Given the description of an element on the screen output the (x, y) to click on. 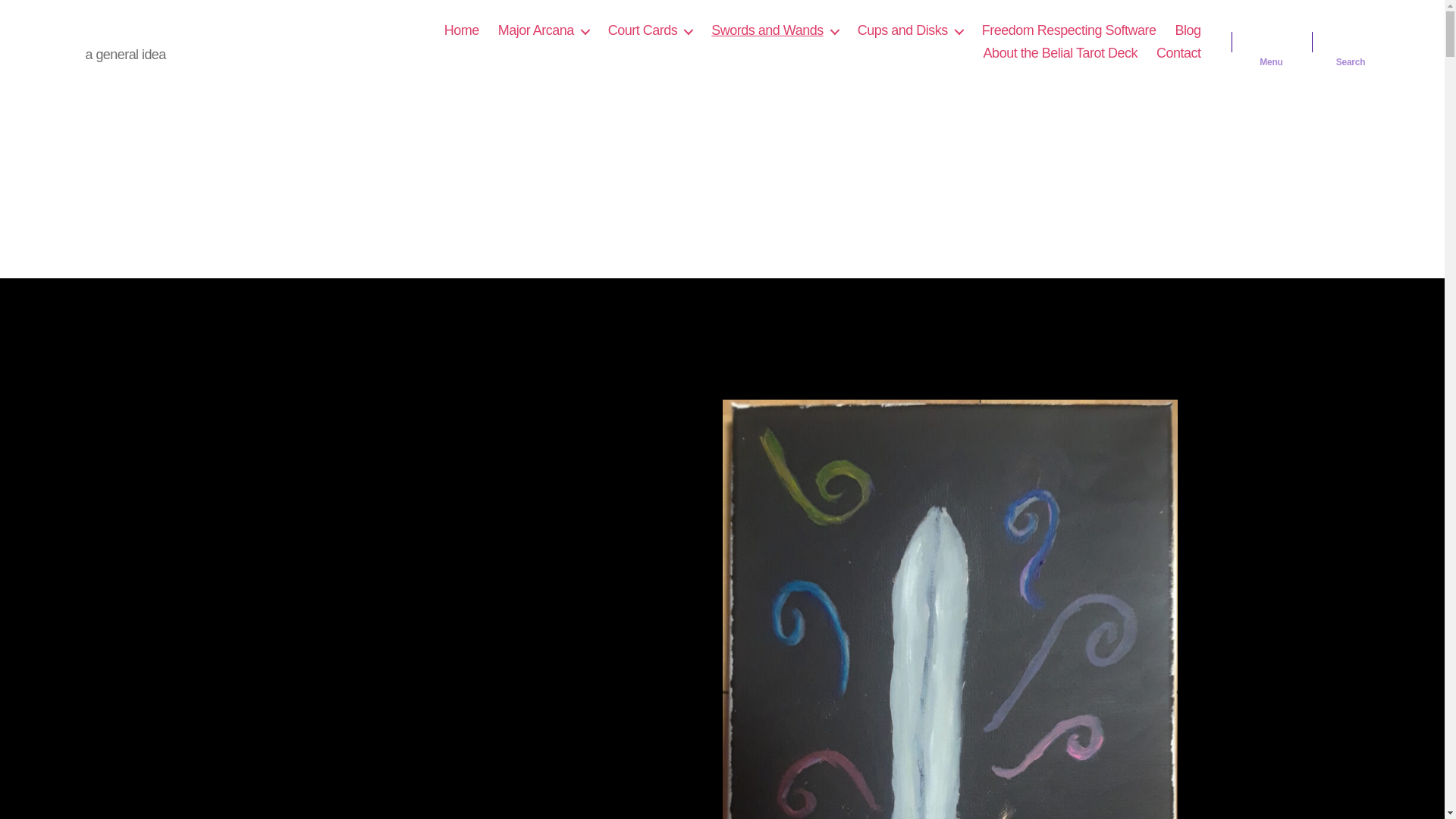
Home (461, 30)
Tarot Card Meanings (167, 30)
Court Cards (650, 30)
Major Arcana (543, 30)
